Given the description of an element on the screen output the (x, y) to click on. 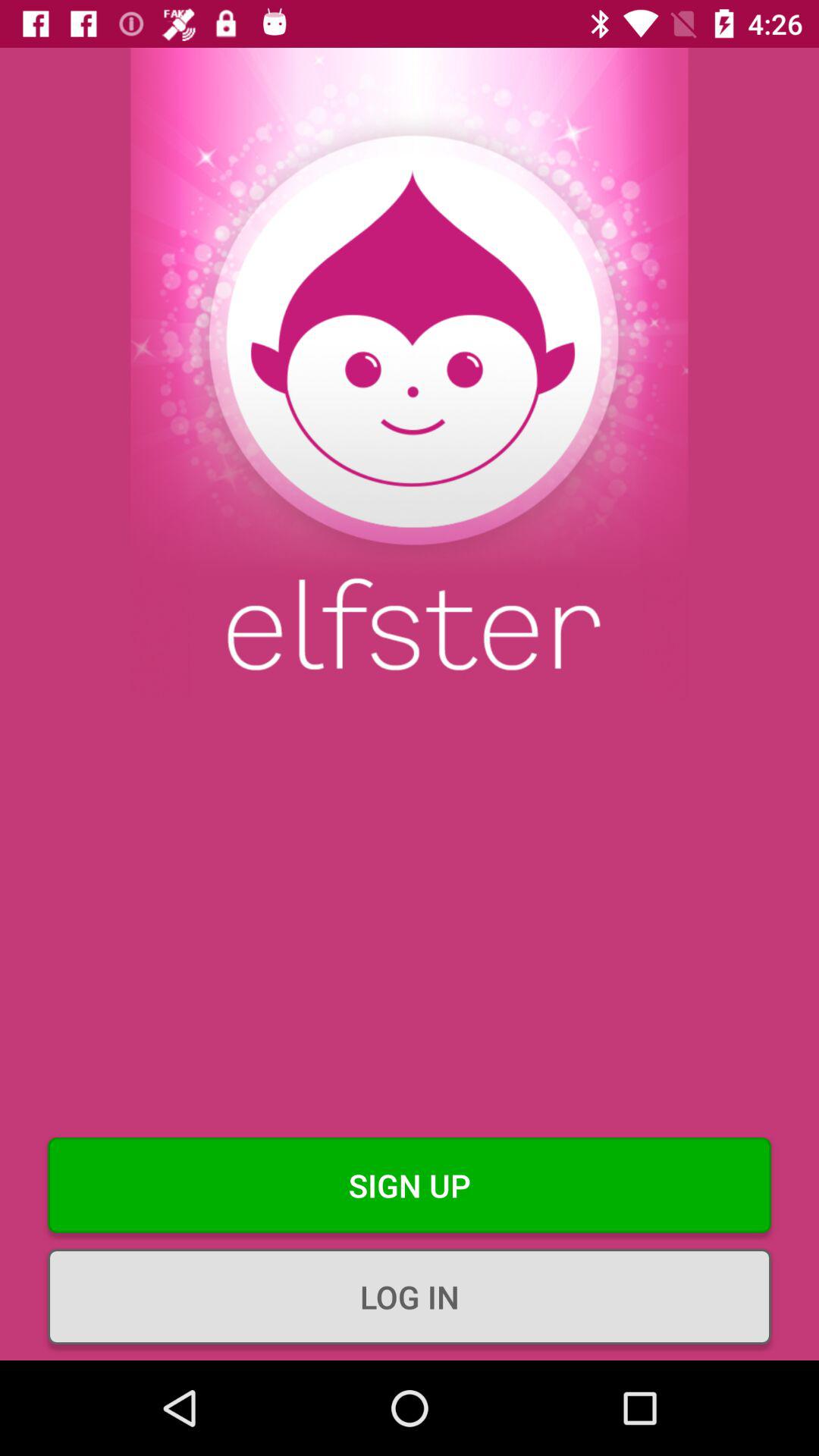
press icon above the log in (409, 1185)
